Given the description of an element on the screen output the (x, y) to click on. 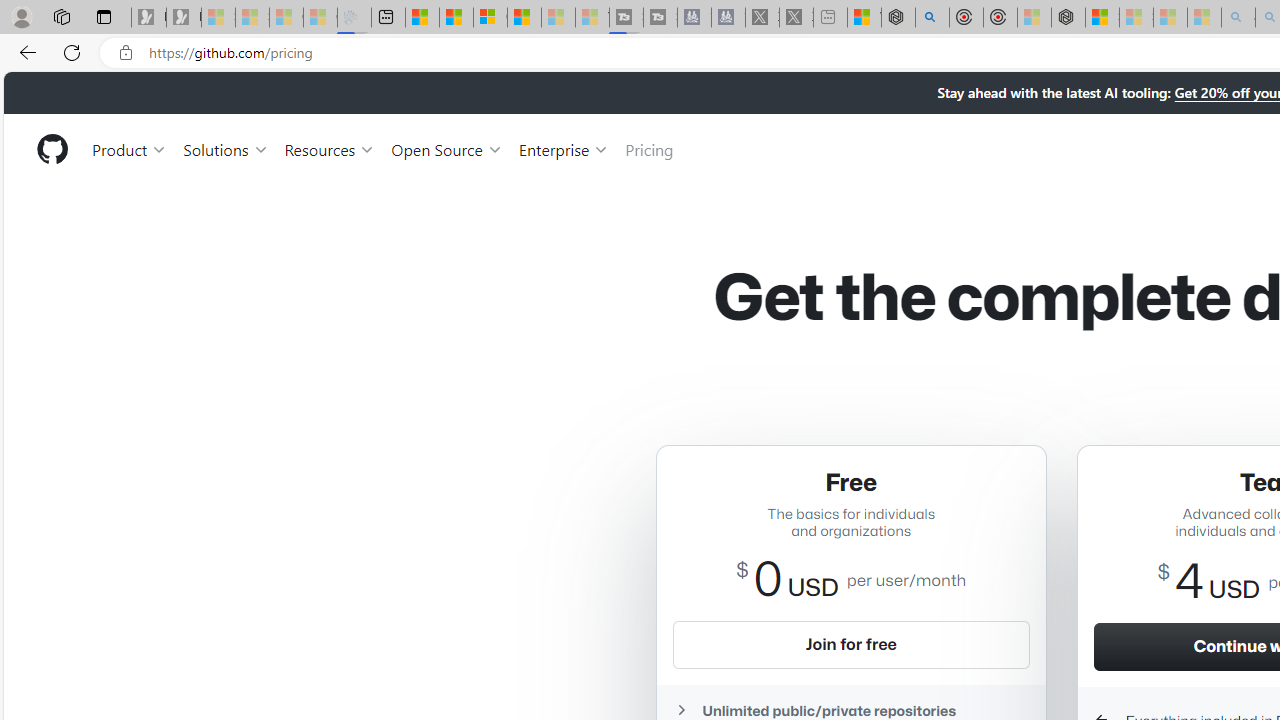
Overview (489, 17)
Resources (330, 148)
amazon - Search - Sleeping (1238, 17)
poe - Search (932, 17)
Open Source (446, 148)
Pricing (649, 148)
Nordace - Nordace Siena Is Not An Ordinary Backpack (1068, 17)
Join for free (851, 643)
